Given the description of an element on the screen output the (x, y) to click on. 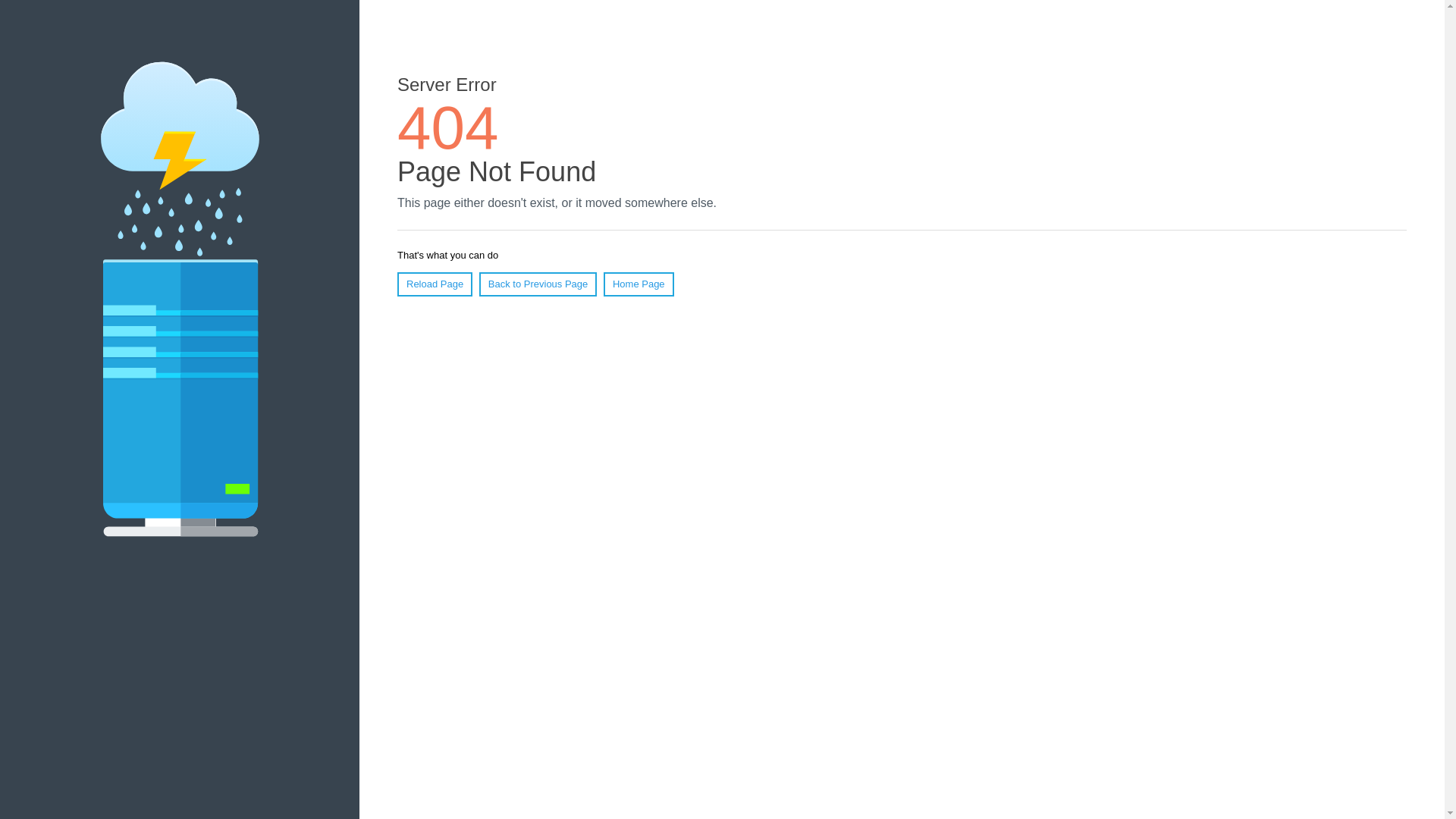
Home Page Element type: text (638, 284)
Reload Page Element type: text (434, 284)
Back to Previous Page Element type: text (538, 284)
